Given the description of an element on the screen output the (x, y) to click on. 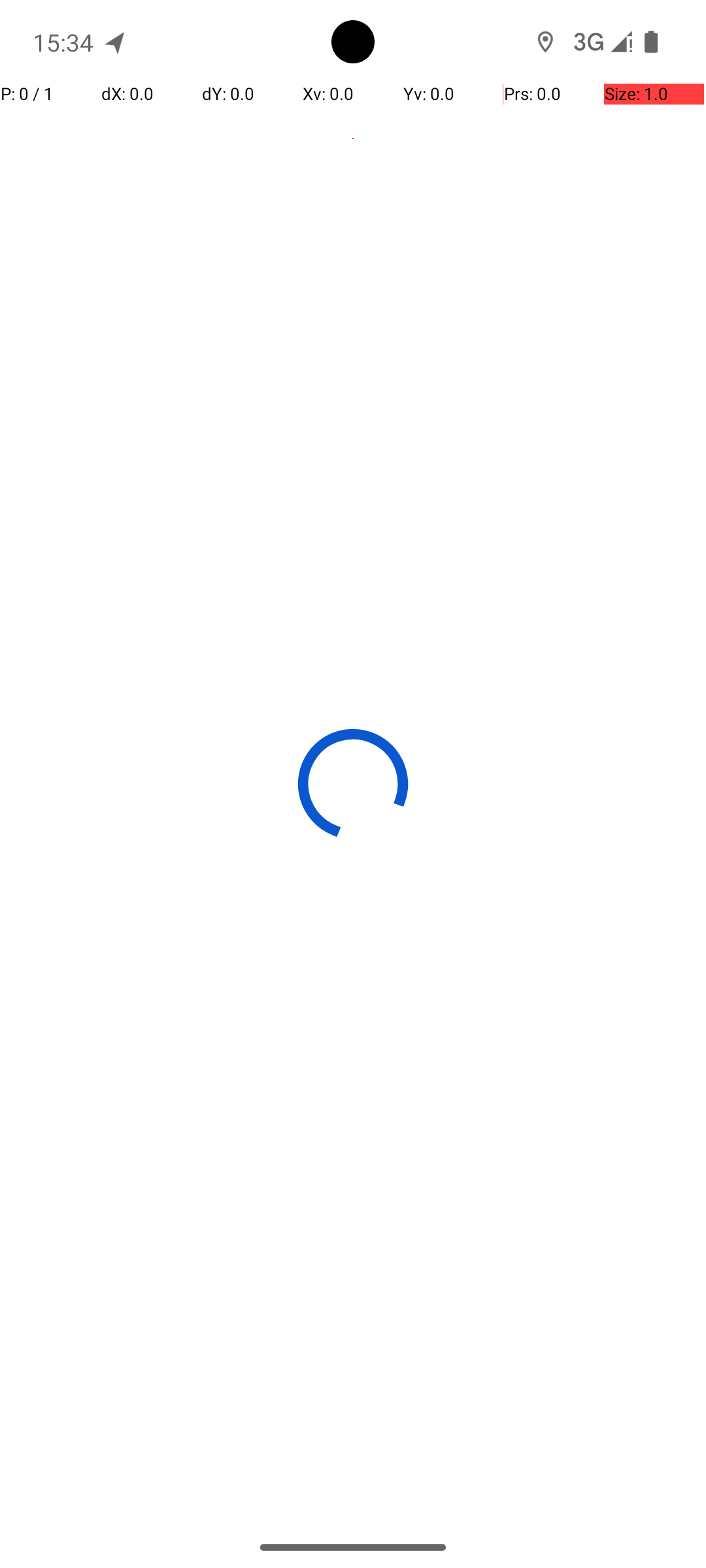
Help Element type: android.view.ViewGroup (352, 138)
